Given the description of an element on the screen output the (x, y) to click on. 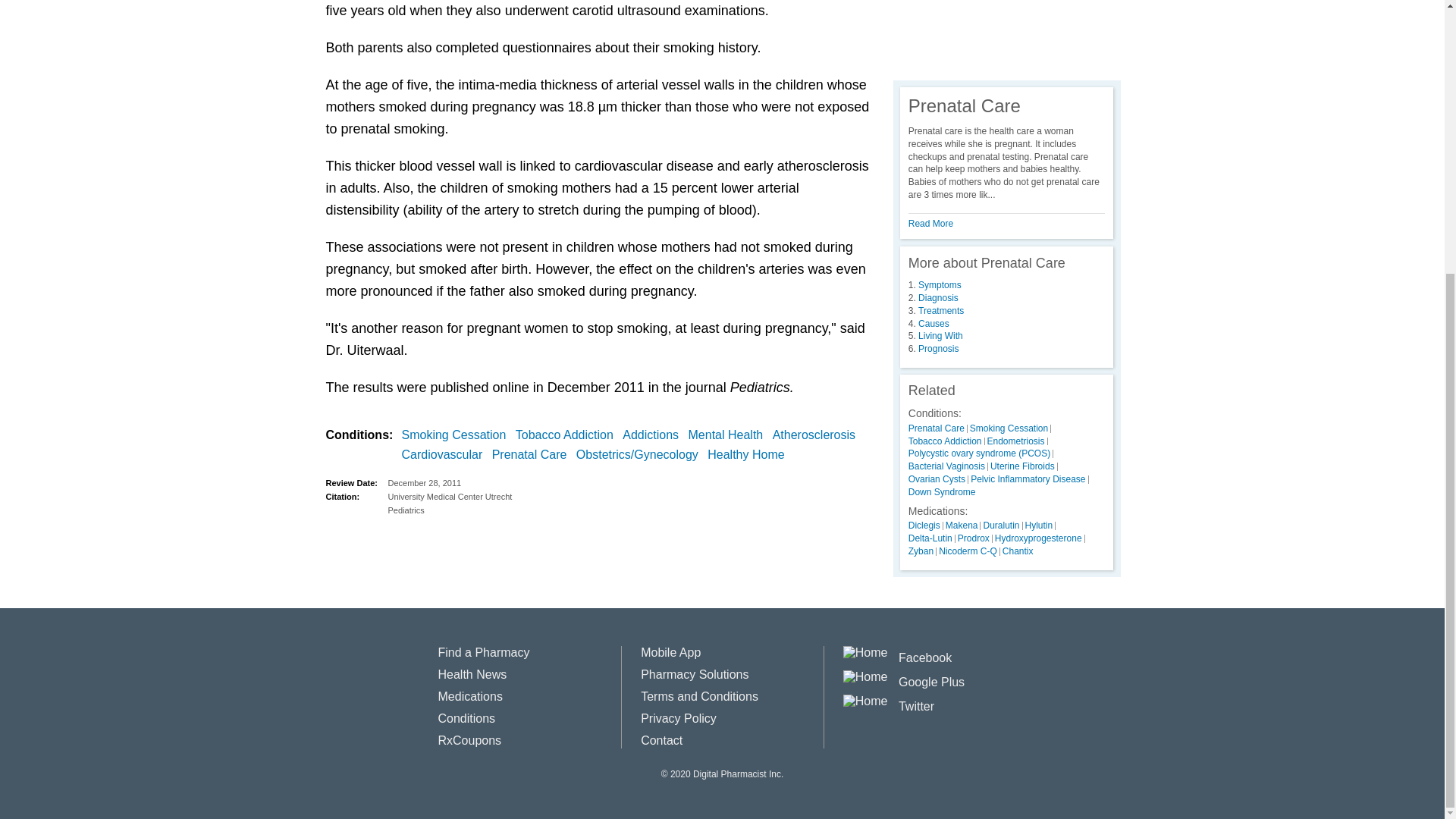
University Medical Center Utrecht (630, 496)
Atherosclerosis (817, 435)
Pediatrics (630, 509)
Healthy Home (748, 455)
Tobacco Addiction (567, 435)
Prenatal Care (532, 455)
Smoking Cessation (456, 435)
Mental Health (729, 435)
Cardiovascular (445, 455)
Addictions (653, 435)
